Given the description of an element on the screen output the (x, y) to click on. 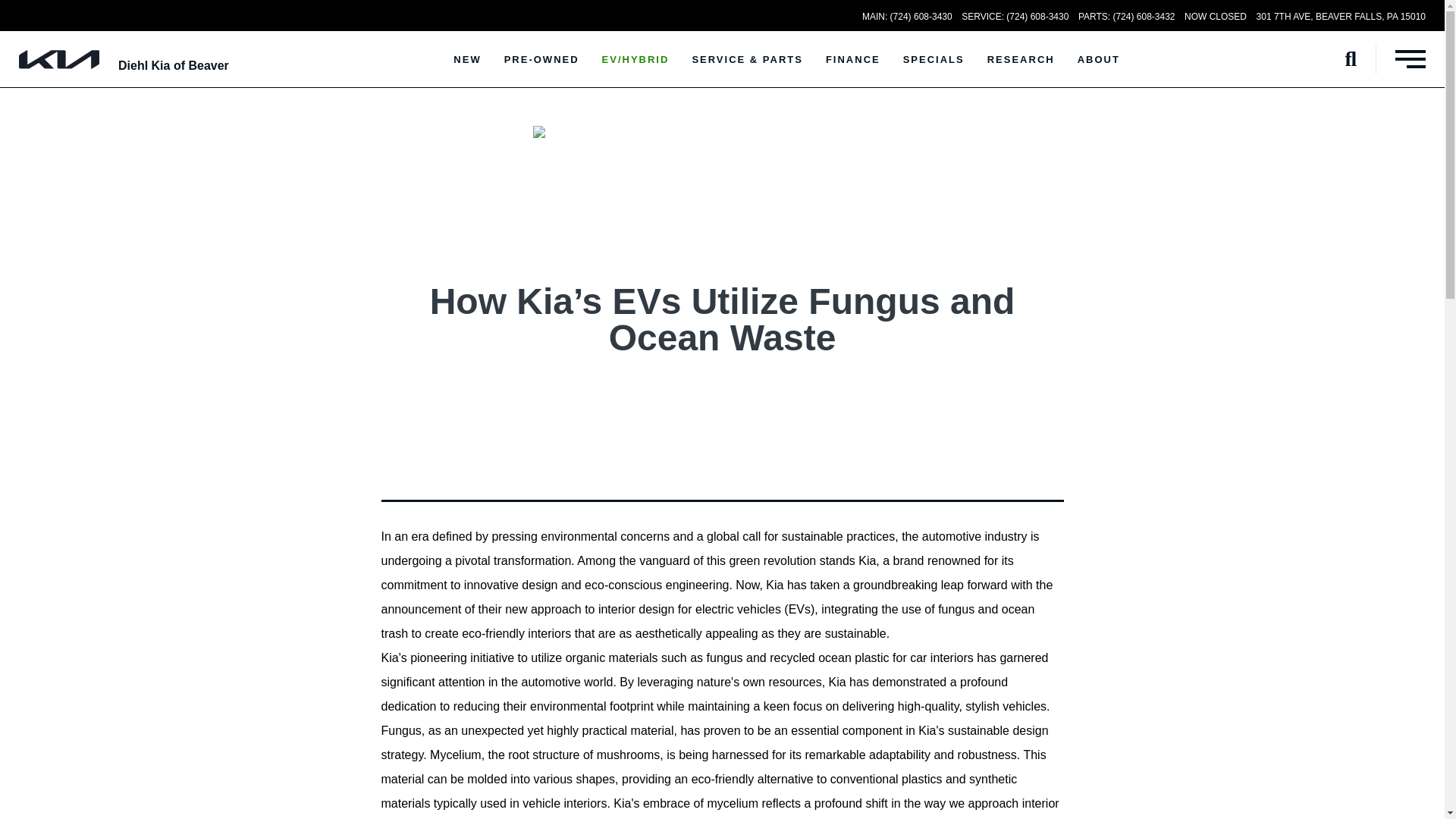
Call Parts at Diehl Kia of Beaver (1126, 16)
Get Directions to Diehl Kia of Beaver (1340, 16)
KIA (58, 58)
NEW (467, 58)
301 7TH AVE, BEAVER FALLS, PA 15010 (1340, 16)
NOW CLOSED (1215, 16)
Call Main at Diehl Kia of Beaver (906, 16)
PRE-OWNED (542, 58)
Diehl Kia of Beaver (172, 65)
Call Service at Diehl Kia of Beaver (1014, 16)
